Given the description of an element on the screen output the (x, y) to click on. 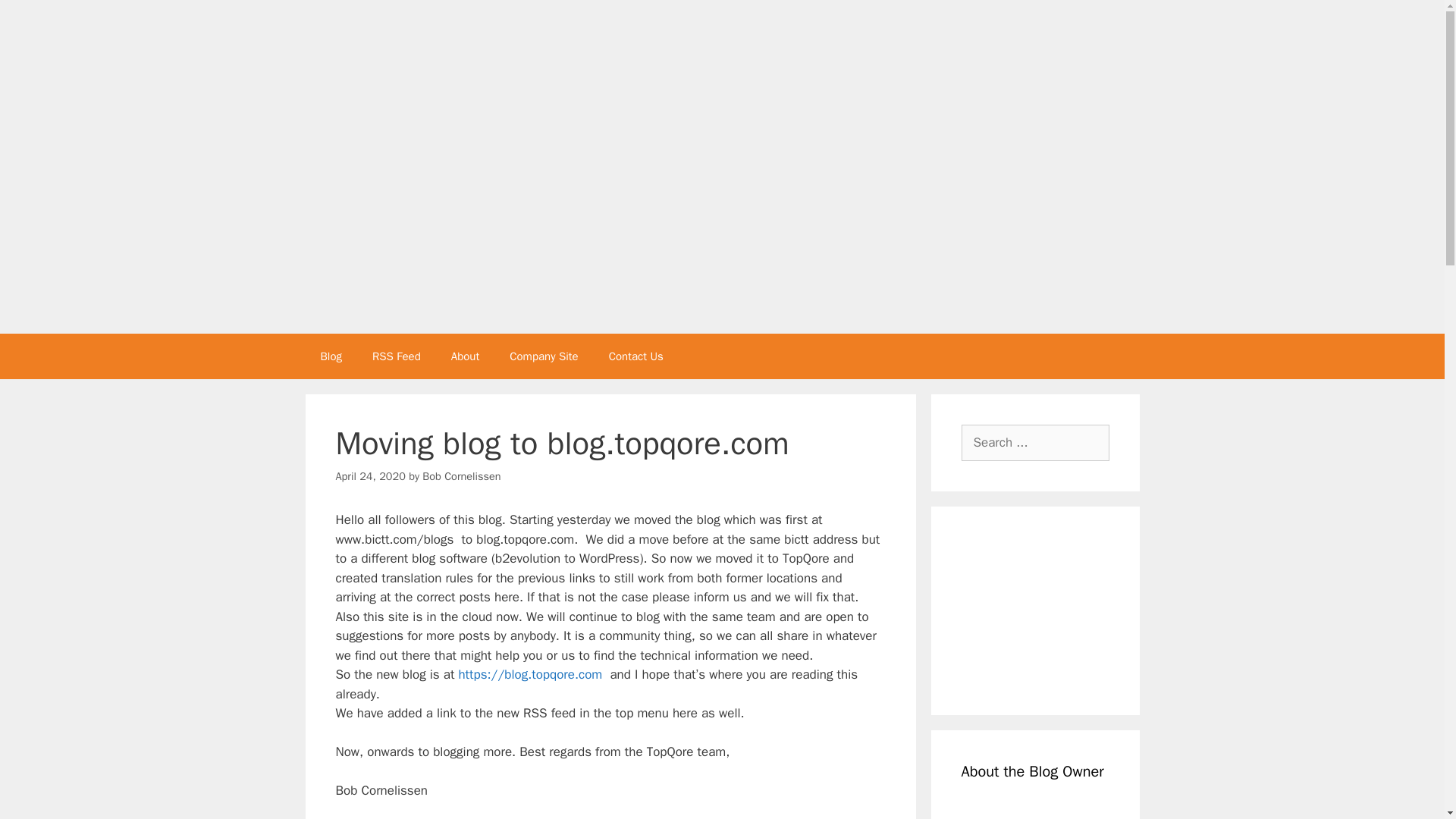
About (465, 356)
Blog (330, 356)
Contact Us (636, 356)
Bob Cornelissen (461, 476)
Company Site (543, 356)
RSS Feed (395, 356)
View all posts by Bob Cornelissen (461, 476)
